Given the description of an element on the screen output the (x, y) to click on. 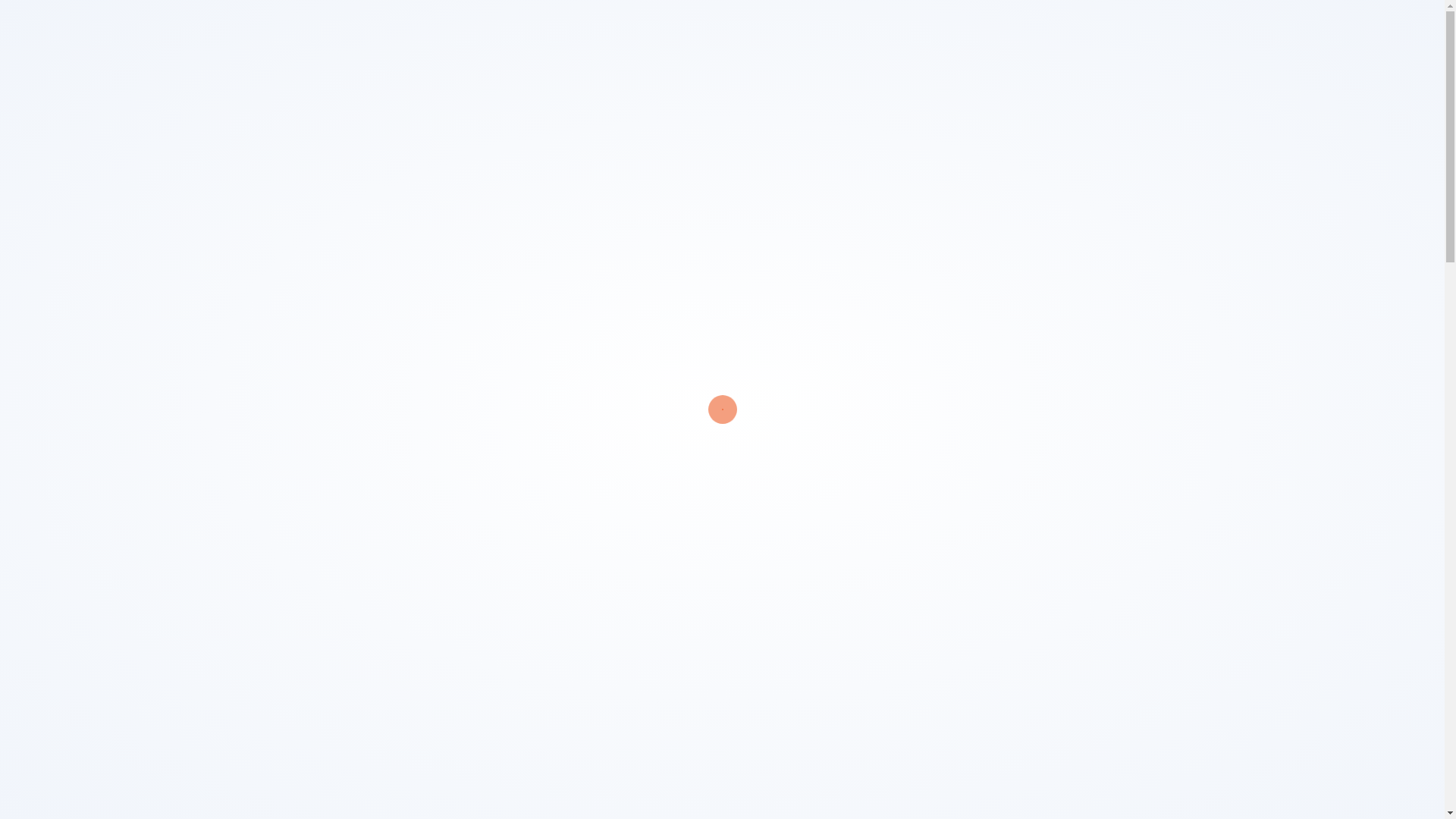
Rummikub (204, 188)
Musical Instruments (204, 314)
Turkish Backgammon Sets (204, 209)
Turkish Chess Sets (204, 166)
Ottoman Miniature Paintings (204, 293)
1 (908, 214)
Turkish Gifts (199, 123)
Miniature Rug Purses (204, 336)
Membership (1230, 30)
